Given the description of an element on the screen output the (x, y) to click on. 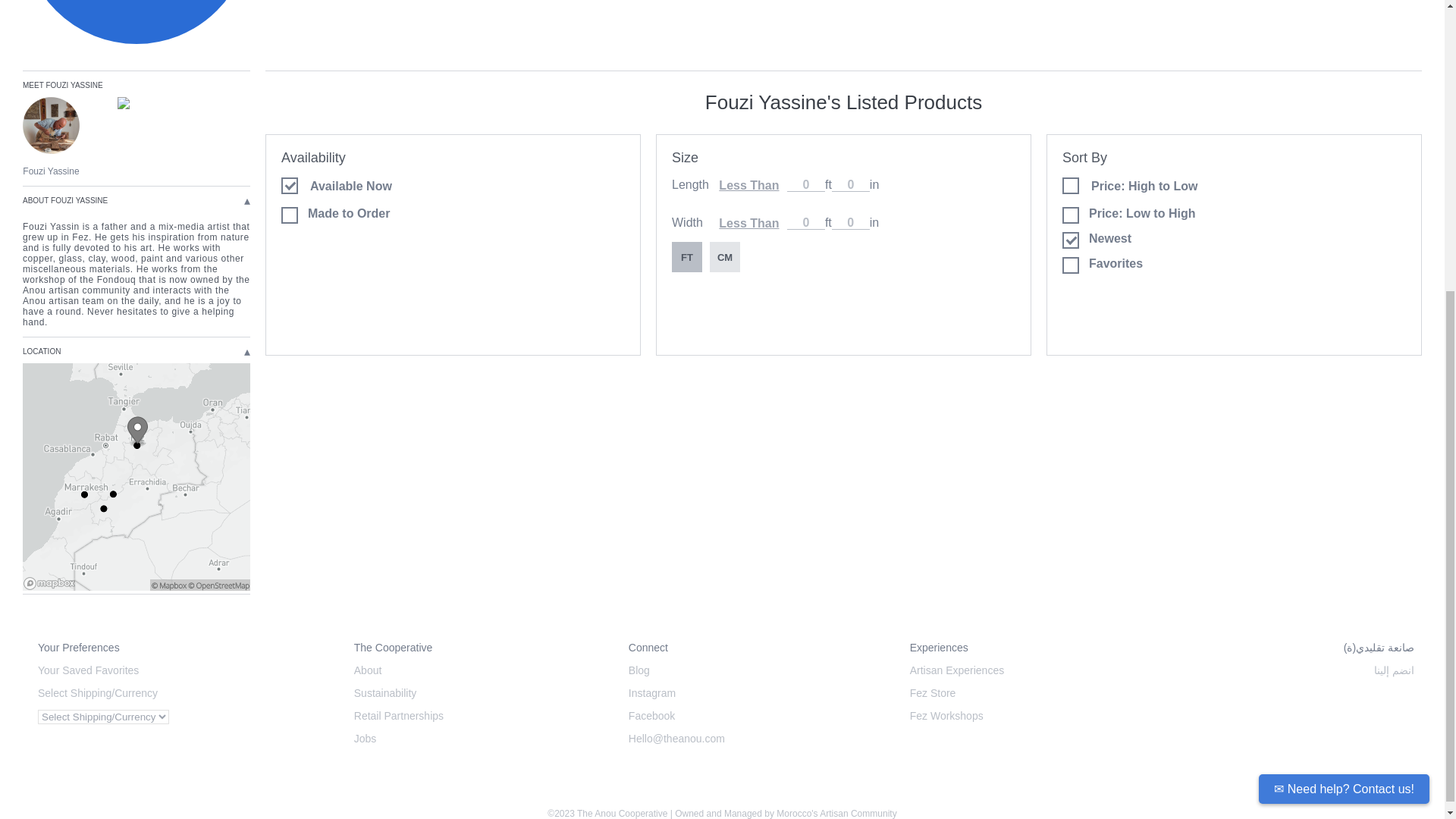
Facebook (753, 715)
Fez Store (1034, 693)
Blog (753, 670)
Retail Partnerships (475, 715)
Artisan Experiences (1034, 670)
Your Saved Favorites (180, 670)
Jobs (475, 738)
About (475, 670)
Instagram (753, 693)
Fez Workshops (1034, 715)
Sustainability (475, 693)
